Given the description of an element on the screen output the (x, y) to click on. 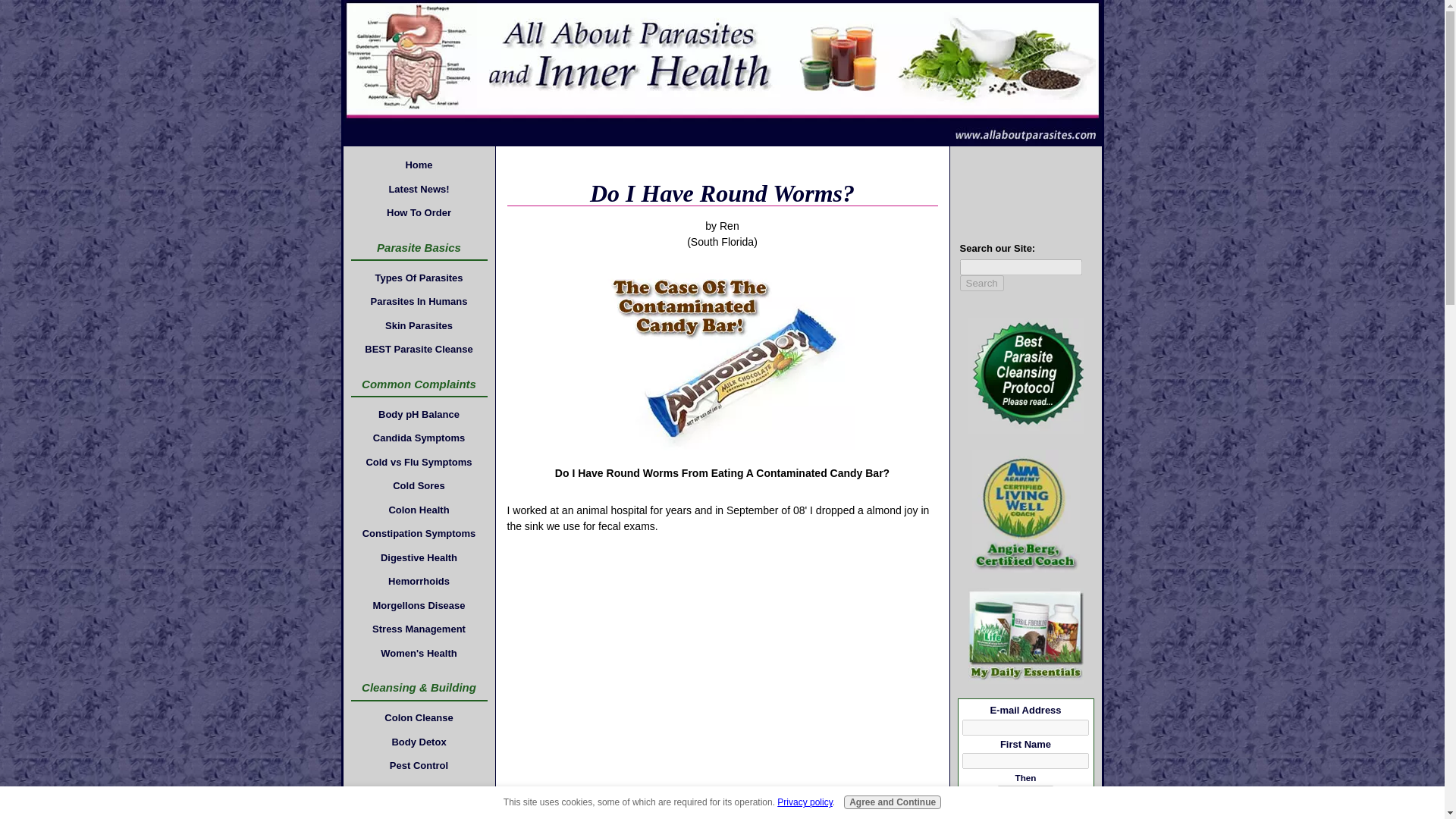
Advertisement (721, 667)
Morgellons Disease (418, 605)
Skin Parasites (418, 324)
Body Detox (418, 742)
Colon Cleanse (418, 717)
Home (418, 164)
My Essentials For Good Health (1026, 635)
Go to Natural Parasite Cleansing Protocol (1026, 430)
Body pH Balance (418, 414)
Do I Have Round Worms From Eating A Contaminated Candy Bar? (722, 355)
Hemorrhoids (418, 581)
Stress Management (418, 629)
Nutritional Supplements (418, 810)
Digestive Health (418, 557)
Women's Health (418, 652)
